Given the description of an element on the screen output the (x, y) to click on. 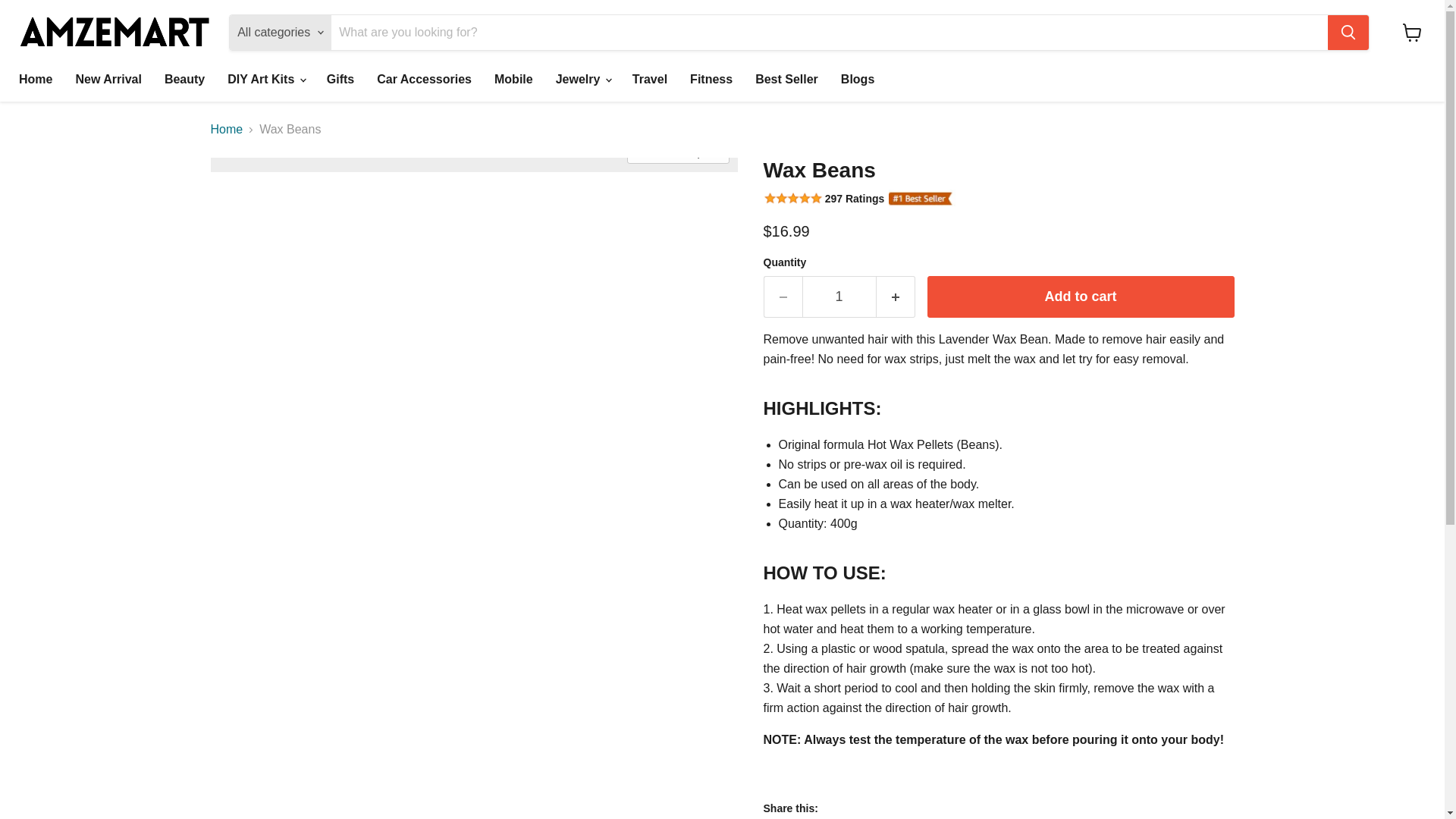
1 (839, 296)
View cart (1411, 32)
Best Seller (786, 79)
Travel (649, 79)
Blogs (857, 79)
Gifts (340, 79)
Car Accessories (424, 79)
Mobile (513, 79)
Home (35, 79)
Fitness (711, 79)
